Given the description of an element on the screen output the (x, y) to click on. 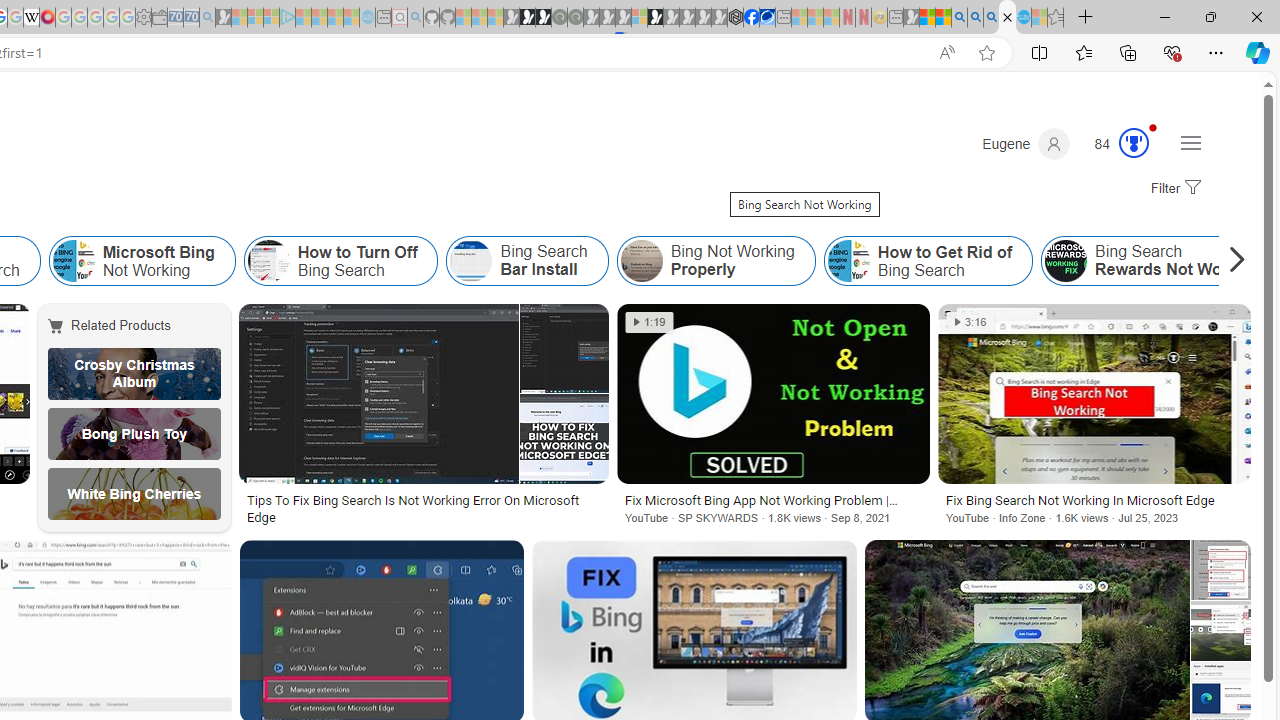
Bing Bong Plush Toy (134, 434)
Services - Maintenance | Sky Blue Bikes - Sky Blue Bikes (1023, 17)
MSN - Sleeping (911, 17)
Bing Search Not Working - Search Images (1007, 17)
Microsoft Rewards 84 (1115, 143)
